Given the description of an element on the screen output the (x, y) to click on. 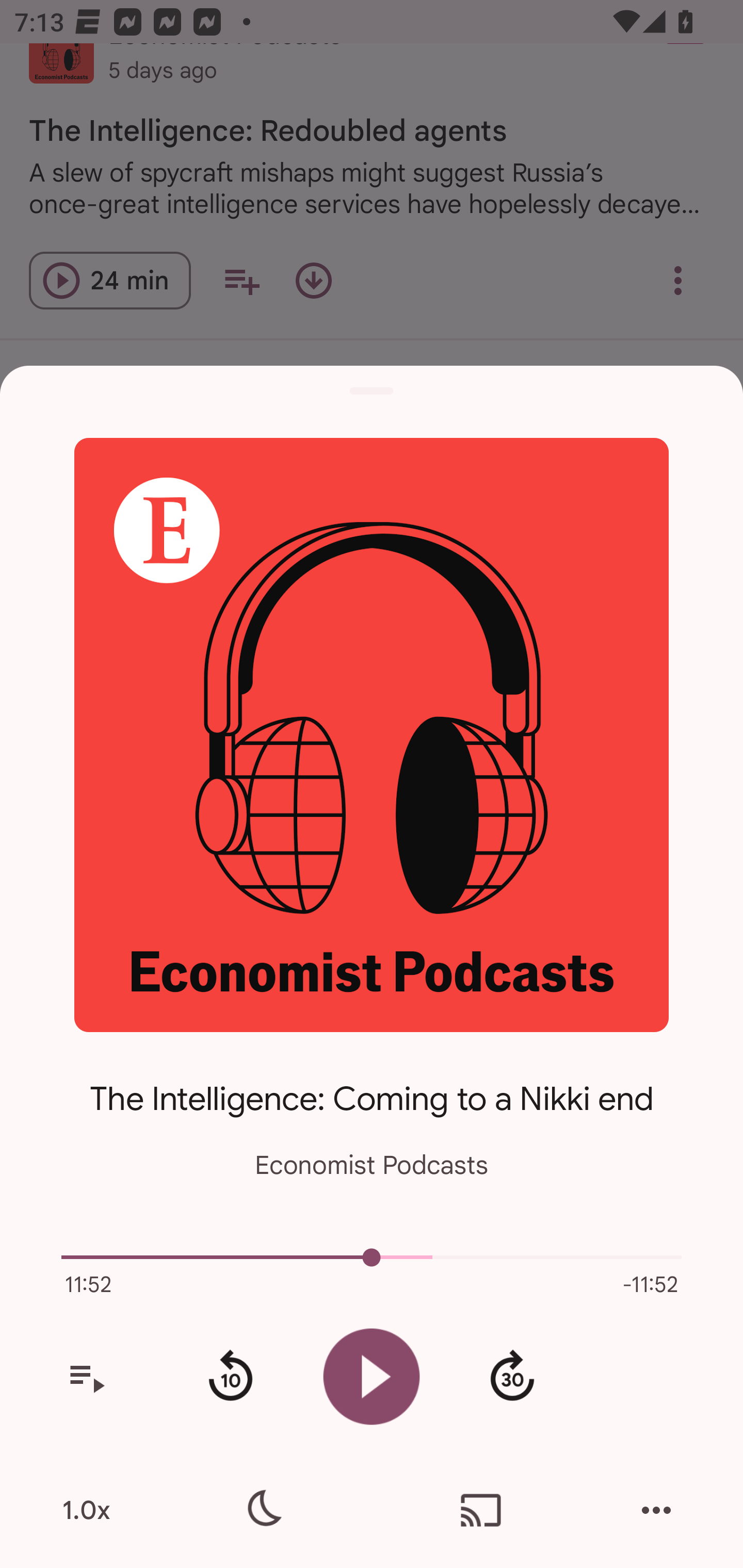
Open the show page for Economist Podcasts (371, 734)
5000.0 Current episode playback (371, 1257)
Play (371, 1376)
View your queue (86, 1376)
Rewind 10 seconds (230, 1376)
Fast forward 30 second (511, 1376)
1.0x Playback speed is 1.0. (86, 1510)
Sleep timer settings (261, 1510)
Cast. Disconnected (480, 1510)
More actions (655, 1510)
